Given the description of an element on the screen output the (x, y) to click on. 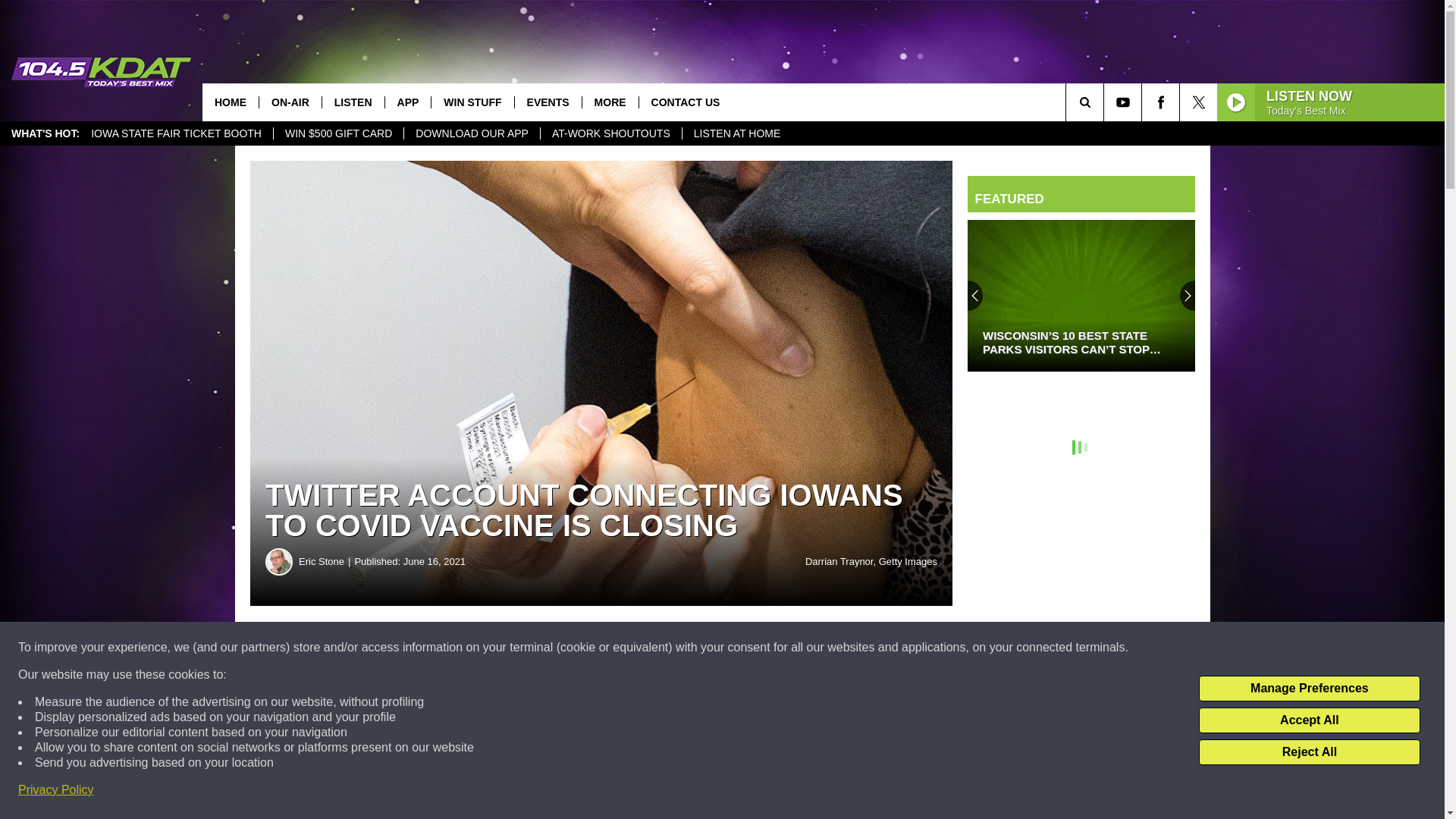
IOWA STATE FAIR TICKET BOOTH (176, 133)
ON-AIR (290, 102)
Manage Preferences (1309, 688)
MORE (609, 102)
DOWNLOAD OUR APP (471, 133)
SEARCH (1106, 102)
Reject All (1309, 751)
LISTEN AT HOME (736, 133)
AT-WORK SHOUTOUTS (610, 133)
Share on Facebook (460, 647)
APP (407, 102)
Accept All (1309, 720)
EVENTS (546, 102)
SEARCH (1106, 102)
Privacy Policy (55, 789)
